Given the description of an element on the screen output the (x, y) to click on. 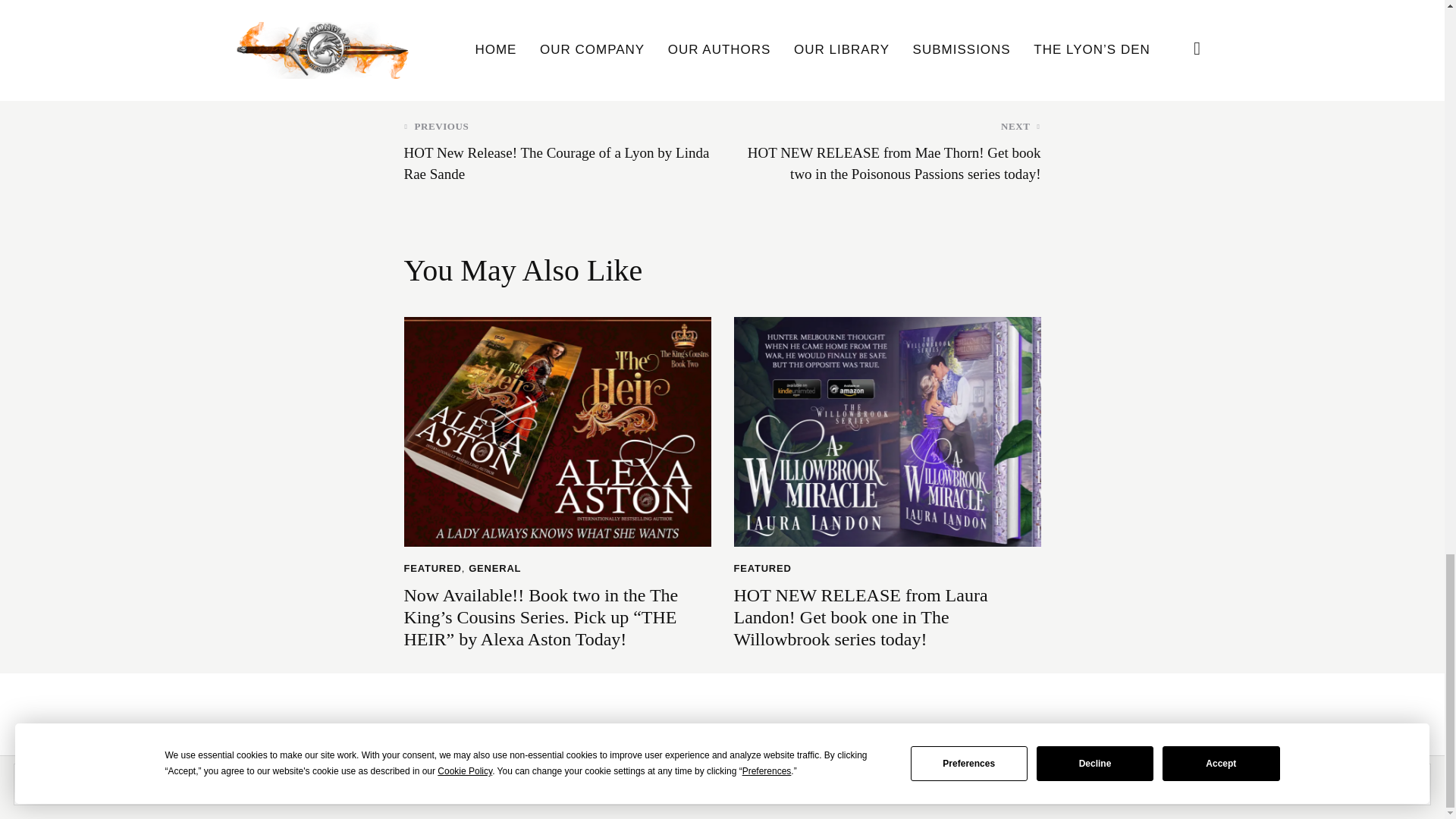
Like (425, 34)
Copy URL to clipboard (1024, 34)
